Given the description of an element on the screen output the (x, y) to click on. 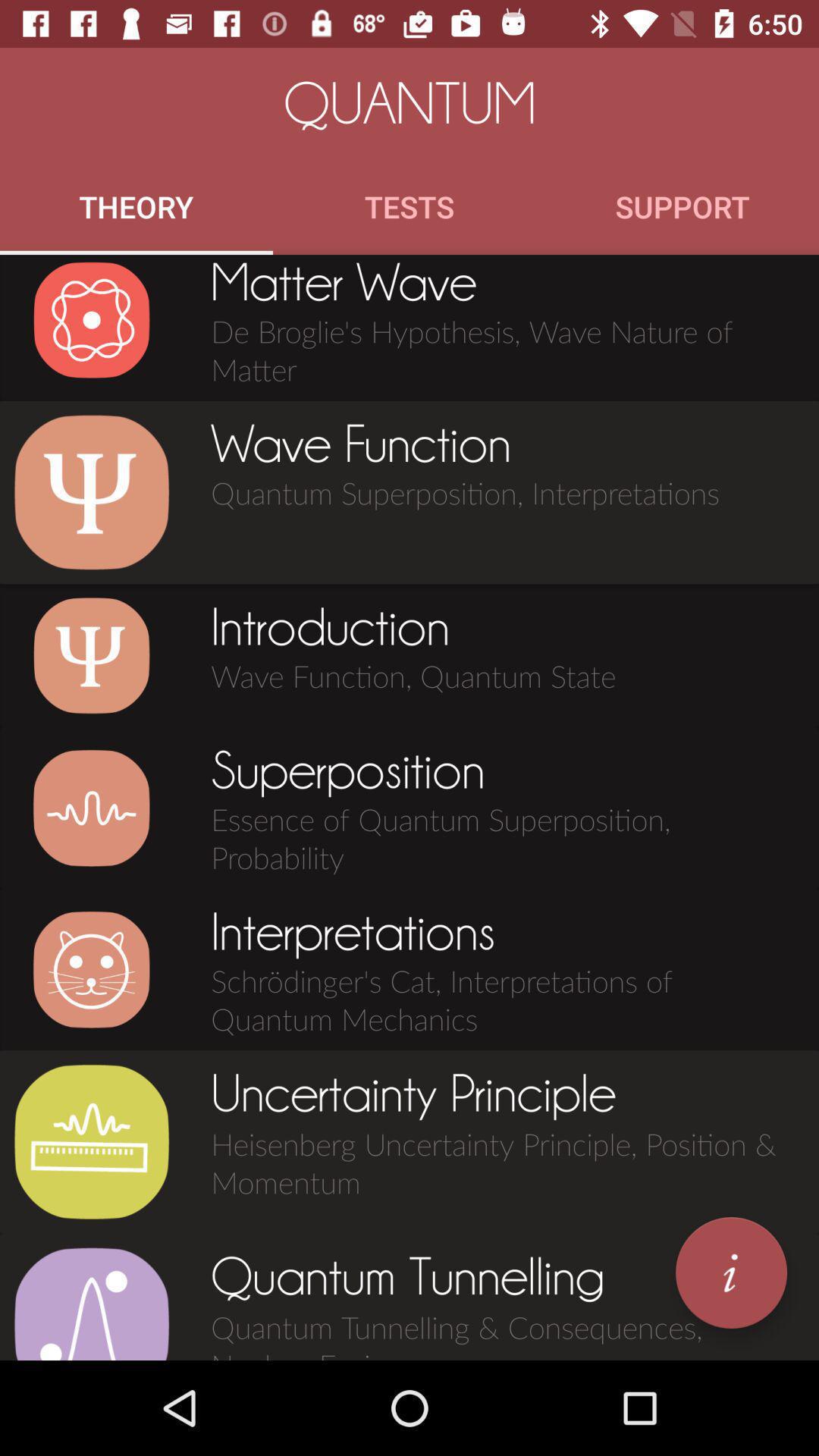
click quantum tunneling icon (91, 1302)
